Given the description of an element on the screen output the (x, y) to click on. 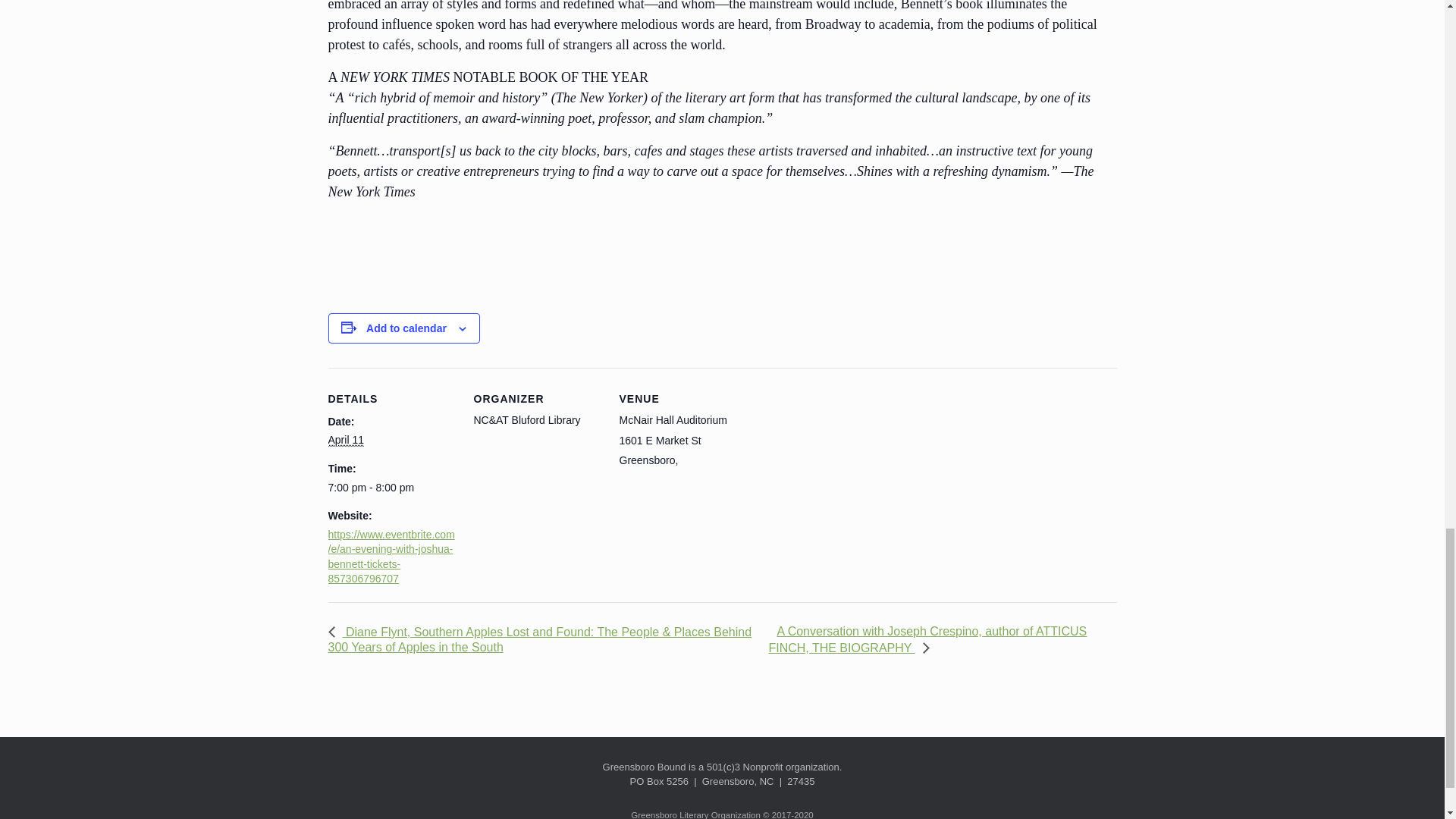
2024-04-11 (390, 488)
2024-04-11 (344, 440)
